Given the description of an element on the screen output the (x, y) to click on. 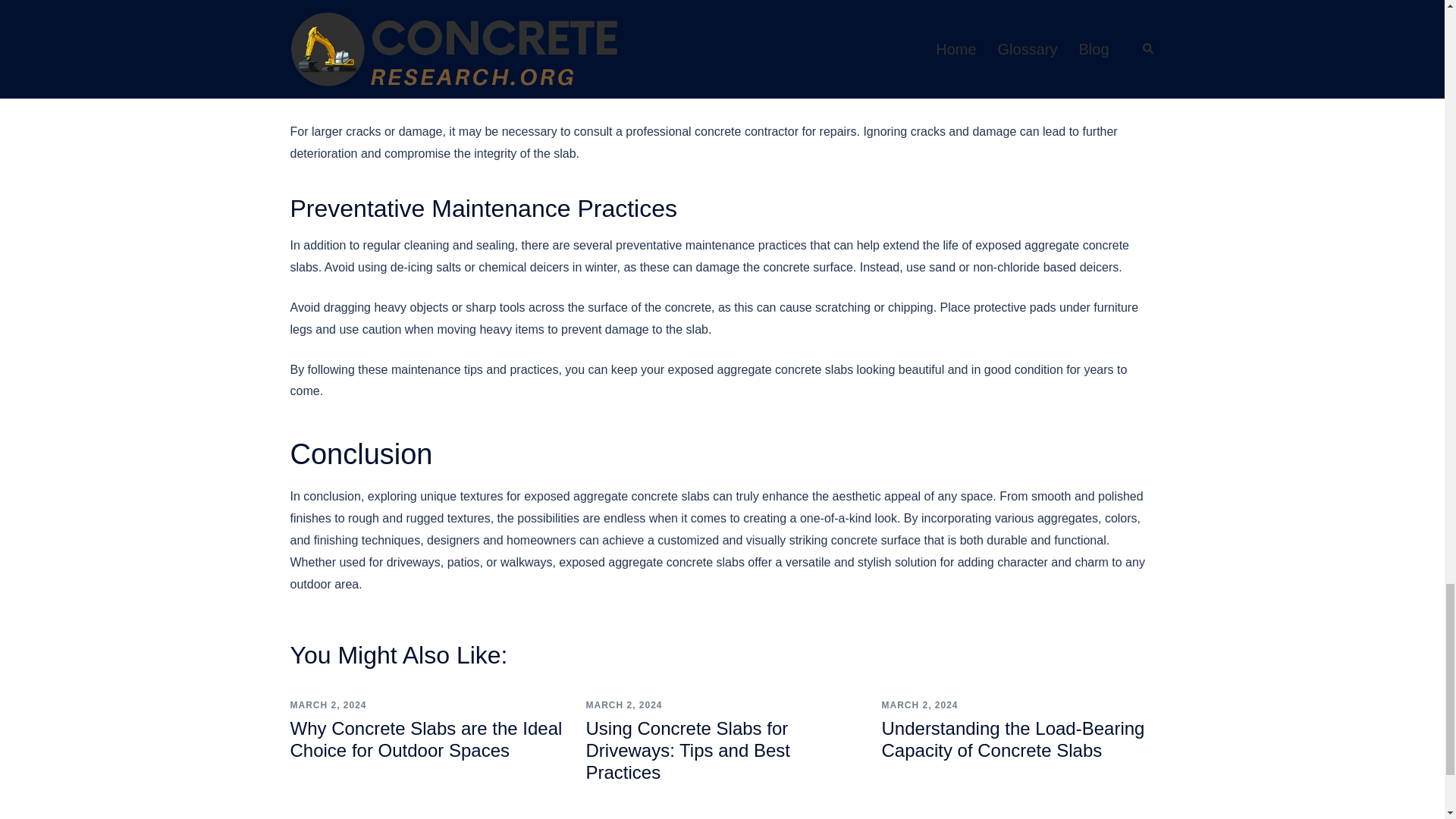
Understanding the Load-Bearing Capacity of Concrete Slabs (1012, 739)
MARCH 2, 2024 (623, 705)
Using Concrete Slabs for Driveways: Tips and Best Practices (687, 750)
MARCH 2, 2024 (919, 705)
Why Concrete Slabs are the Ideal Choice for Outdoor Spaces (425, 739)
MARCH 2, 2024 (327, 705)
